Given the description of an element on the screen output the (x, y) to click on. 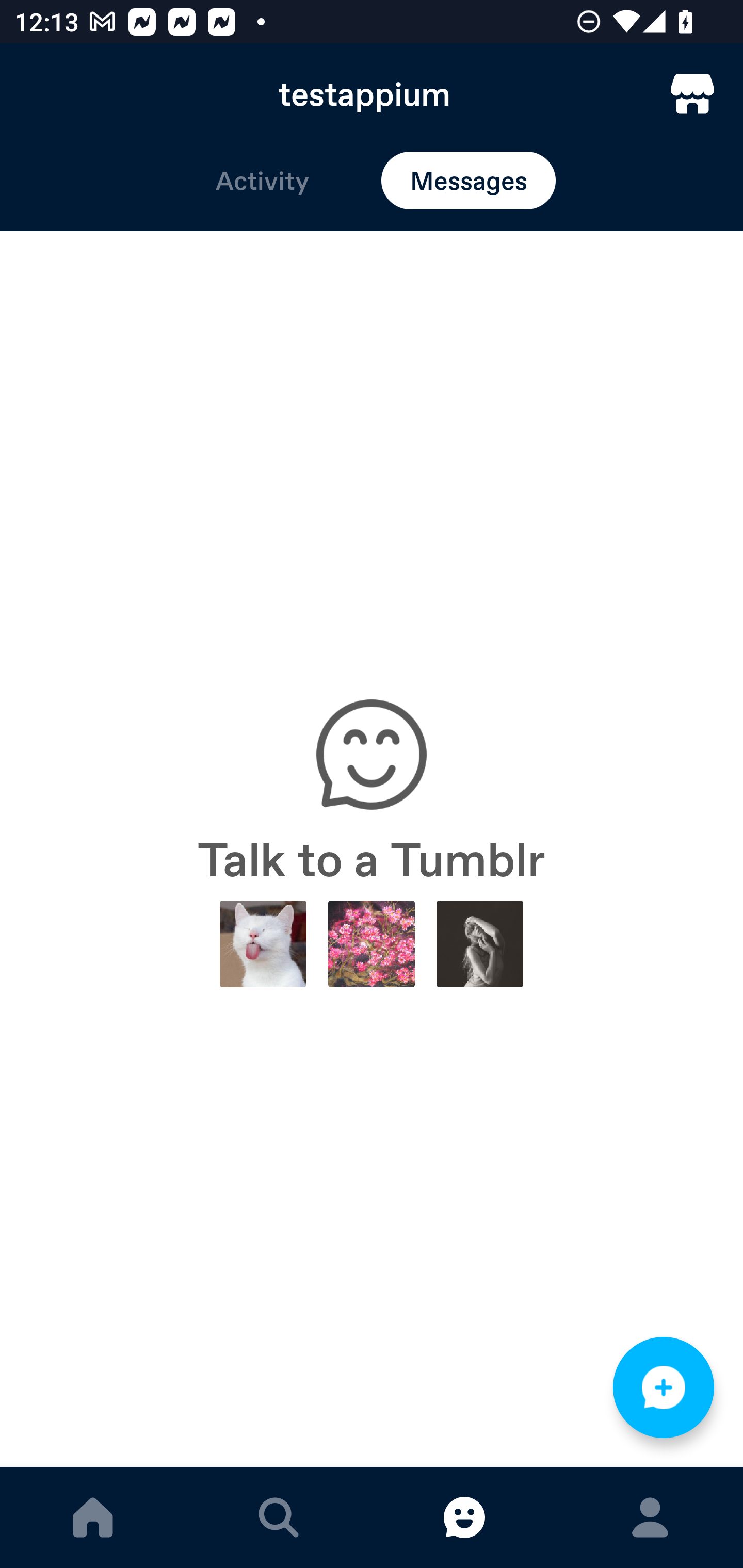
testappium (371, 93)
TumblrMart (692, 94)
Activity Activity Activity (261, 181)
NEW MESSAGE (663, 1387)
DASHBOARD (92, 1517)
EXPLORE (278, 1517)
MESSAGES (464, 1517)
ACCOUNT (650, 1517)
